Given the description of an element on the screen output the (x, y) to click on. 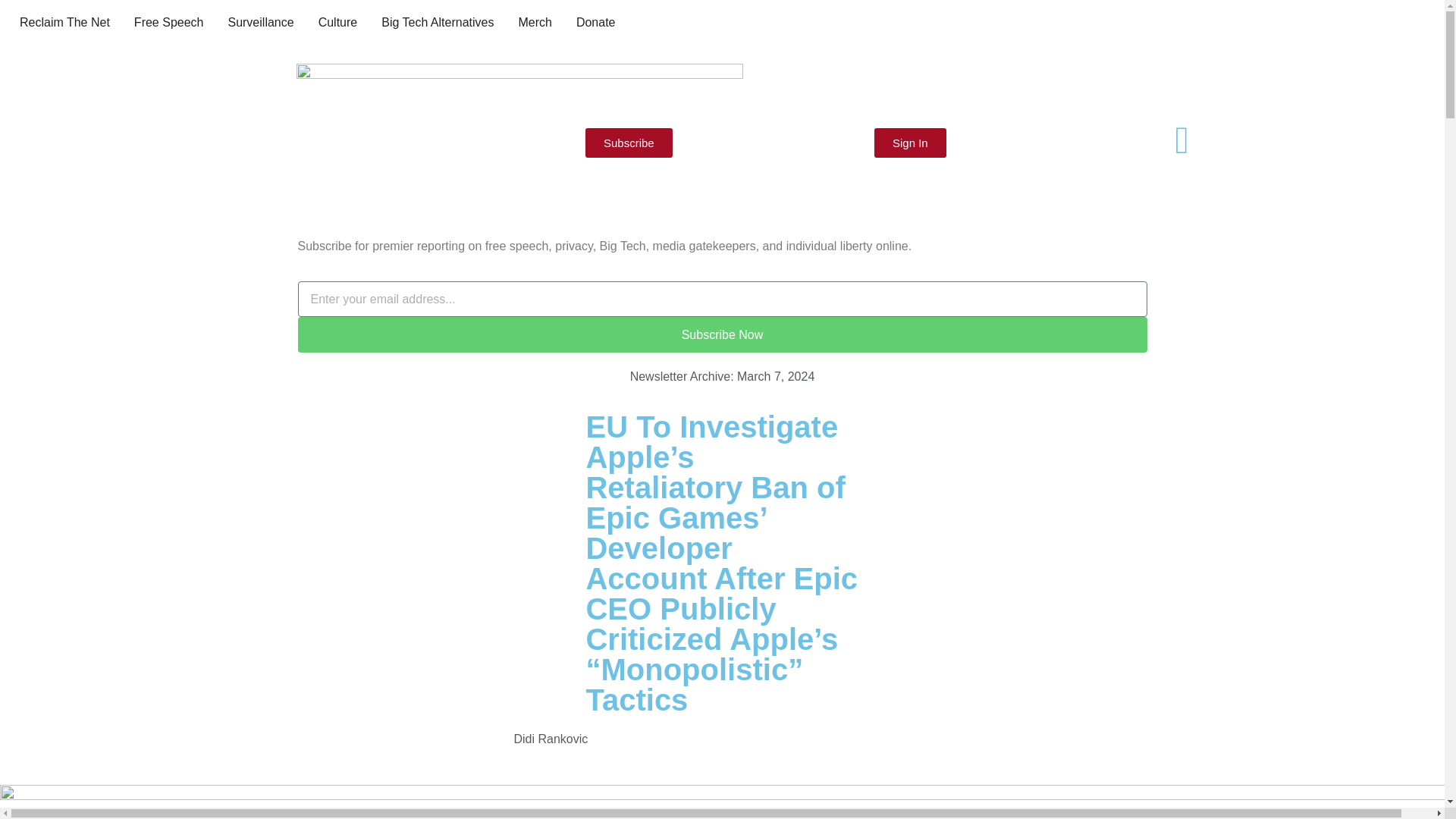
Subscribe Now (722, 334)
Merch (534, 22)
Reclaim The Net (65, 22)
Surveillance (260, 22)
Culture (338, 22)
Subscribe (628, 142)
Big Tech Alternatives (437, 22)
Free Speech (168, 22)
Sign In (910, 142)
Didi Rankovic (550, 739)
Donate (595, 22)
